Given the description of an element on the screen output the (x, y) to click on. 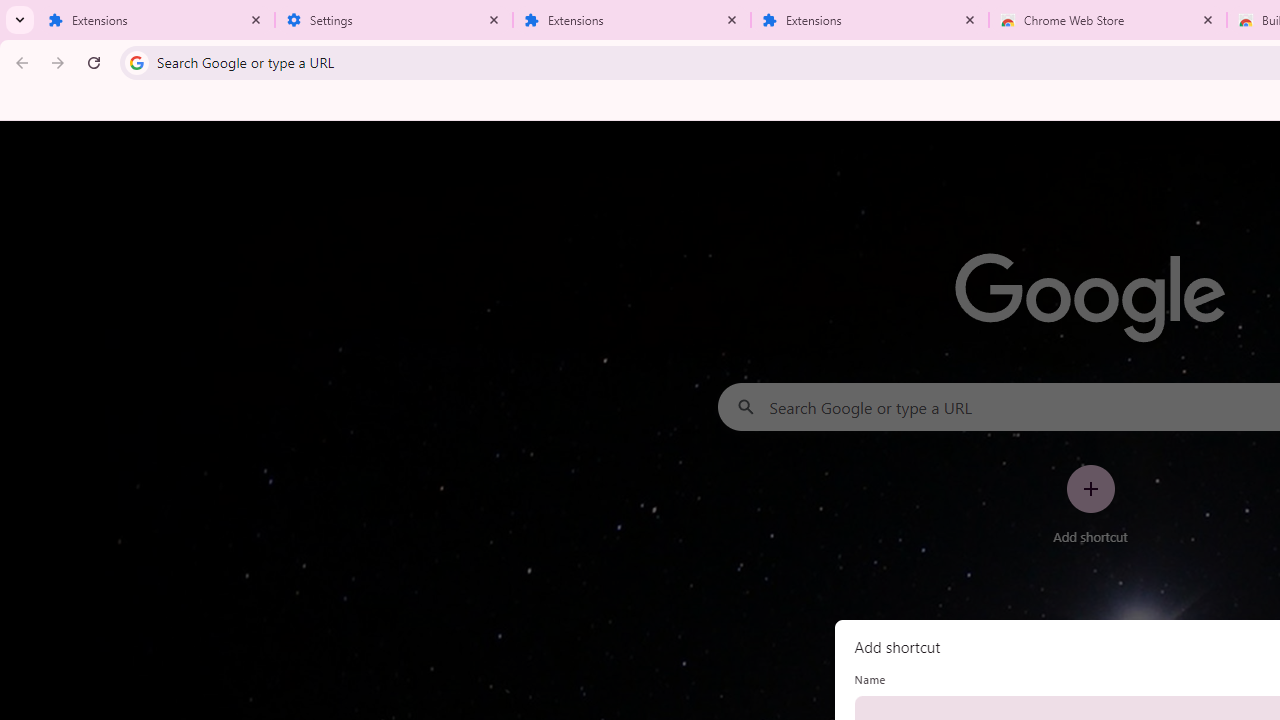
Extensions (632, 20)
Extensions (156, 20)
Chrome Web Store (1108, 20)
Extensions (870, 20)
Settings (394, 20)
